Given the description of an element on the screen output the (x, y) to click on. 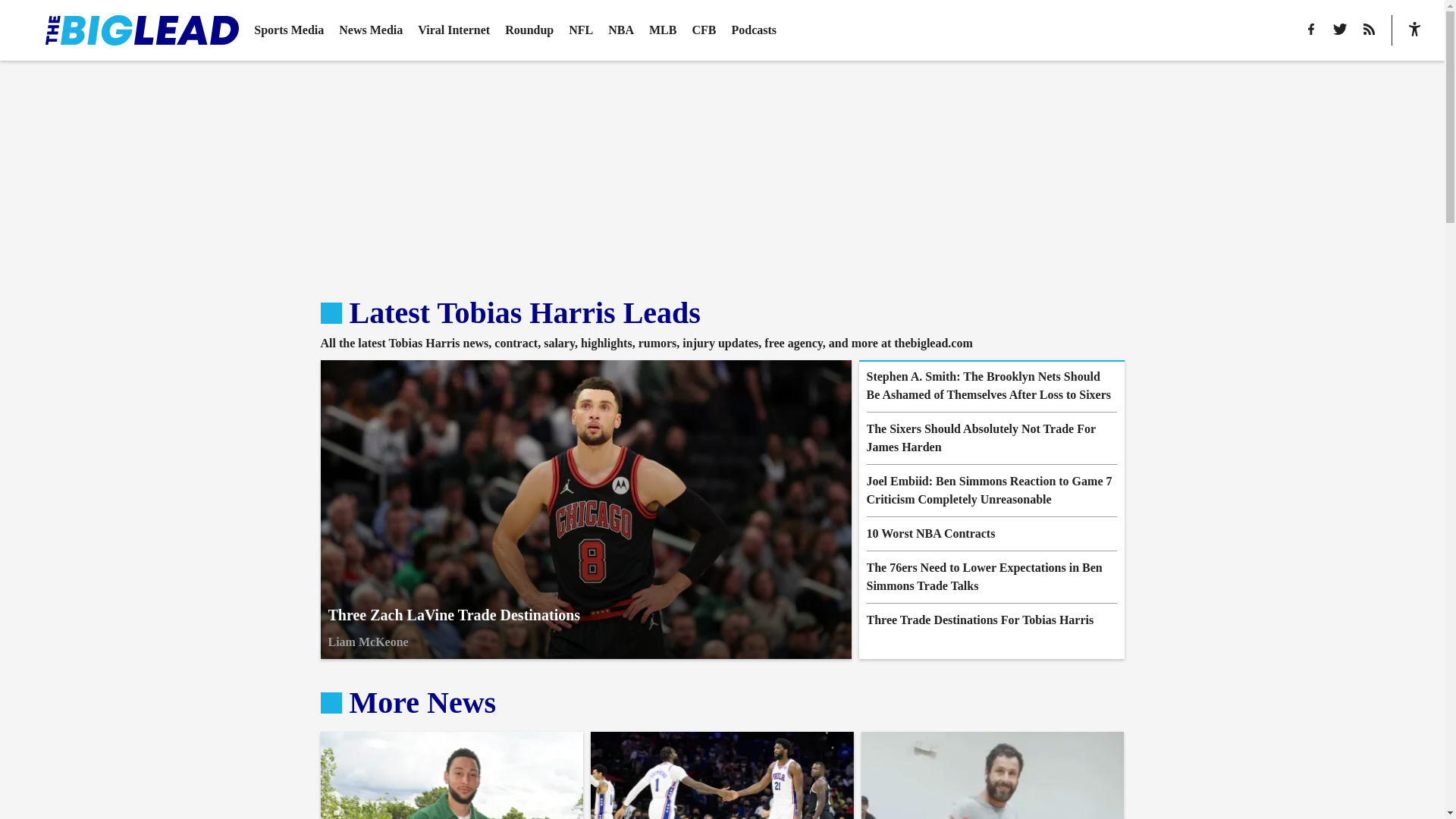
Sports Media (288, 30)
CFB (703, 30)
Three Trade Destinations For Tobias Harris (451, 775)
The Sixers Should Absolutely Not Trade For James Harden (991, 619)
NFL (991, 437)
Adam Sandler at an NBA run. (580, 30)
